Given the description of an element on the screen output the (x, y) to click on. 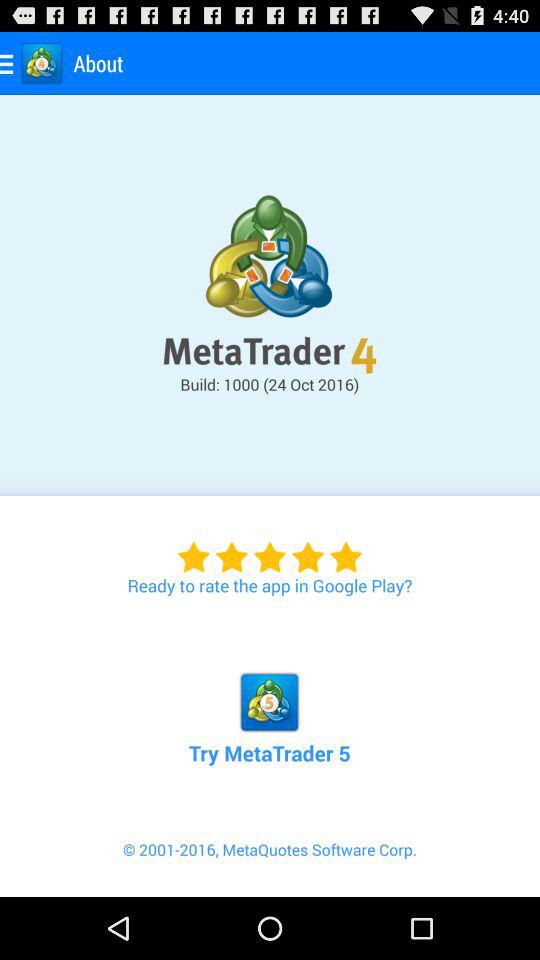
tap item above the try metatrader 5 (269, 545)
